Given the description of an element on the screen output the (x, y) to click on. 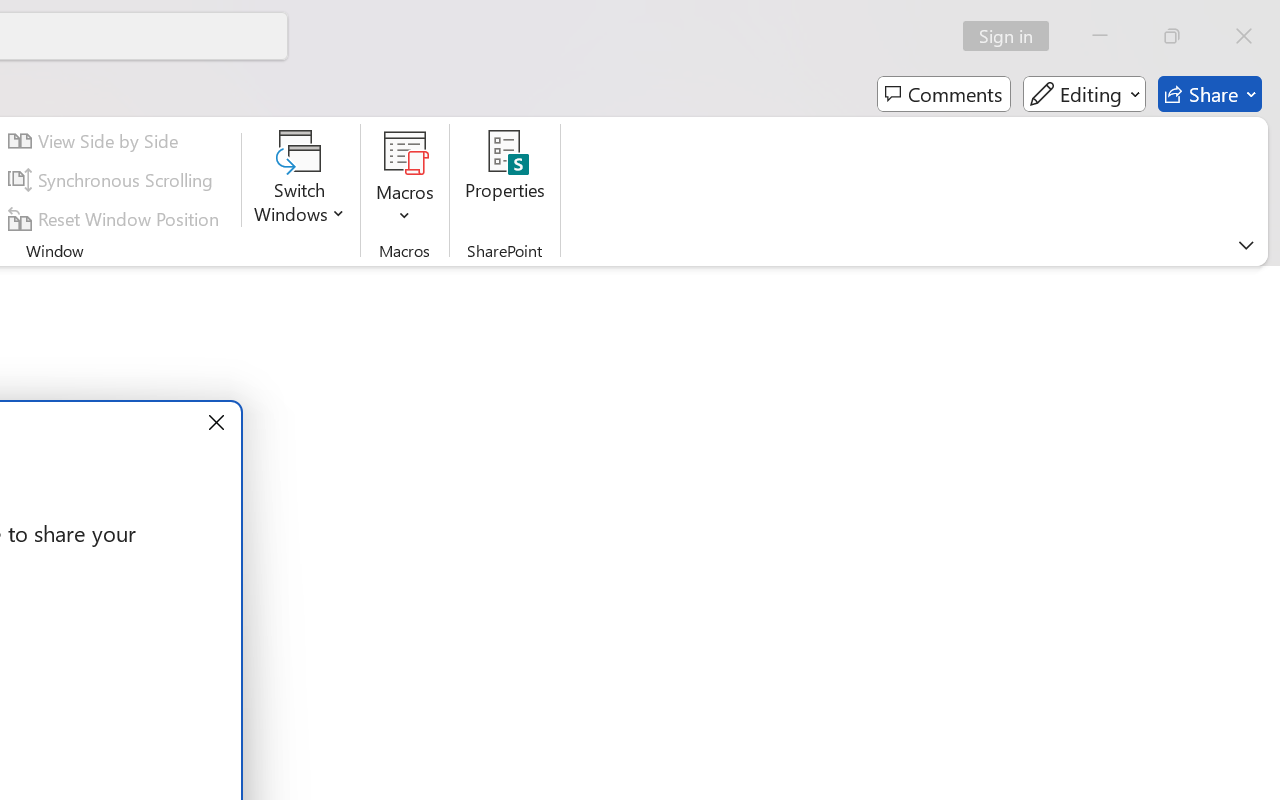
View Macros (404, 151)
Synchronous Scrolling (114, 179)
Switch Windows (299, 179)
View Side by Side (96, 141)
Properties (505, 179)
